Given the description of an element on the screen output the (x, y) to click on. 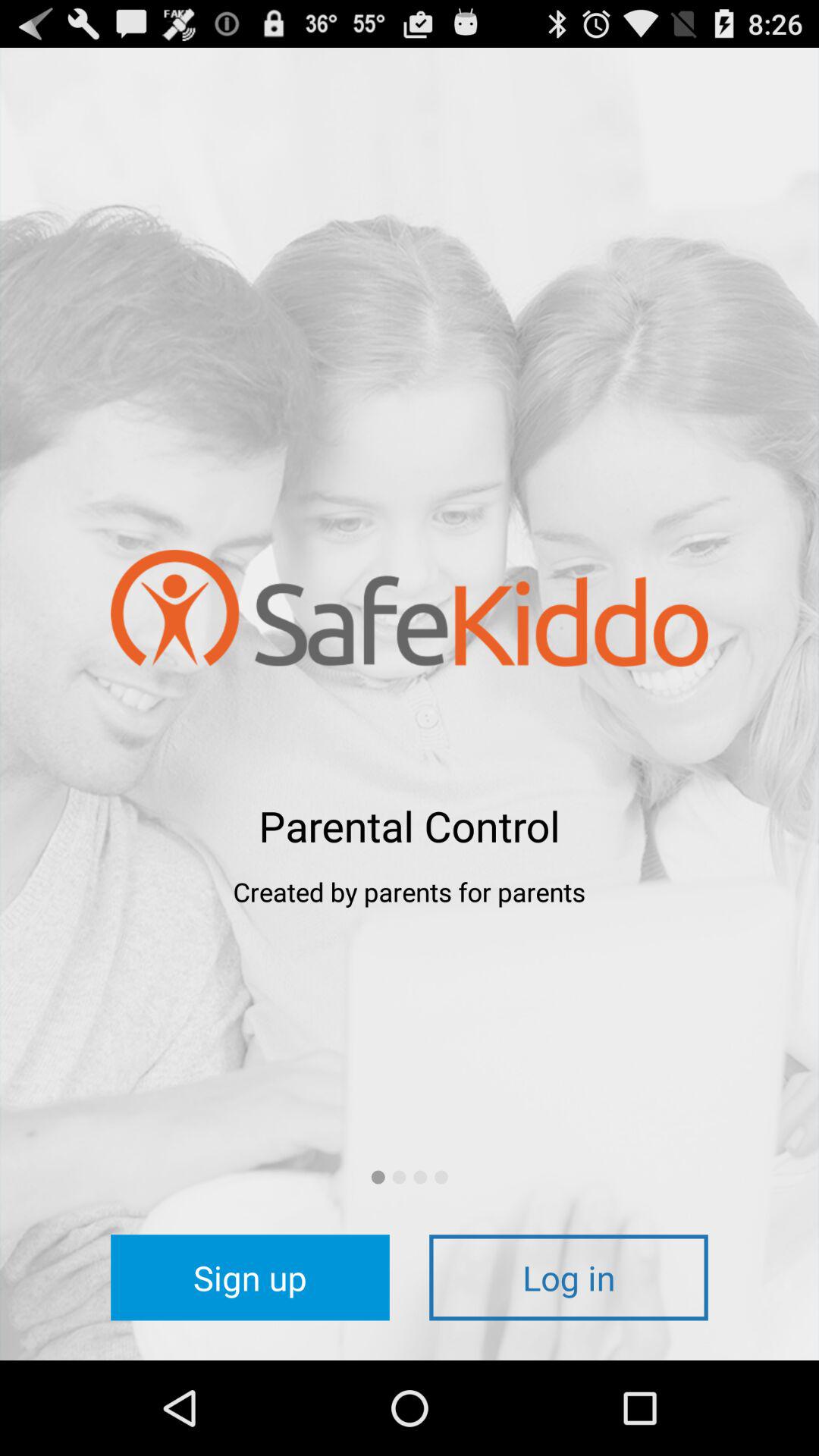
jump to log in (568, 1277)
